Given the description of an element on the screen output the (x, y) to click on. 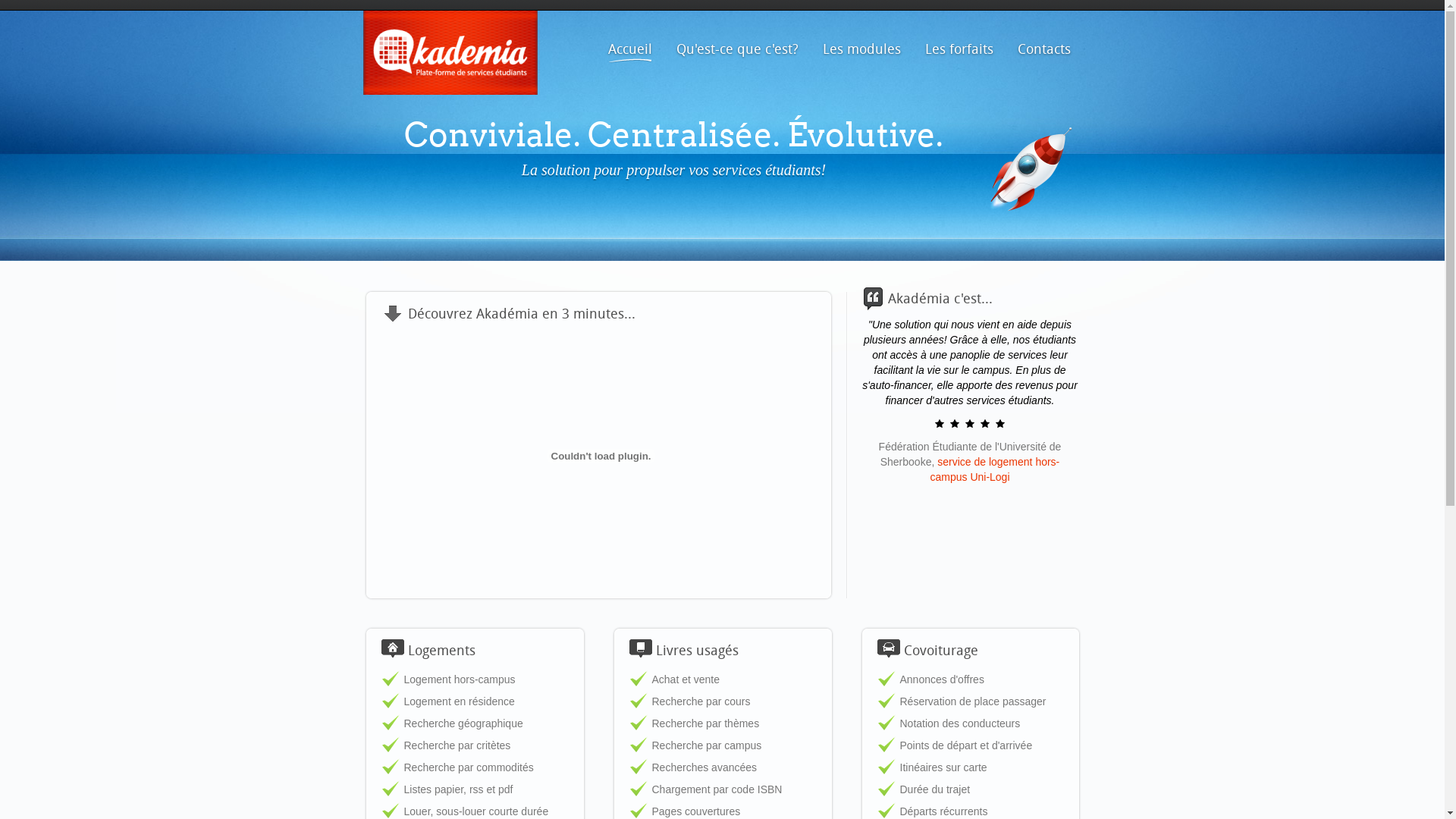
service de logement hors-campus Uni-Logi Element type: text (994, 469)
Les forfaits Element type: text (958, 49)
Accueil Element type: text (629, 49)
Les modules Element type: text (861, 49)
Qu'est-ce que c'est? Element type: text (736, 49)
Contacts Element type: text (1043, 49)
